Given the description of an element on the screen output the (x, y) to click on. 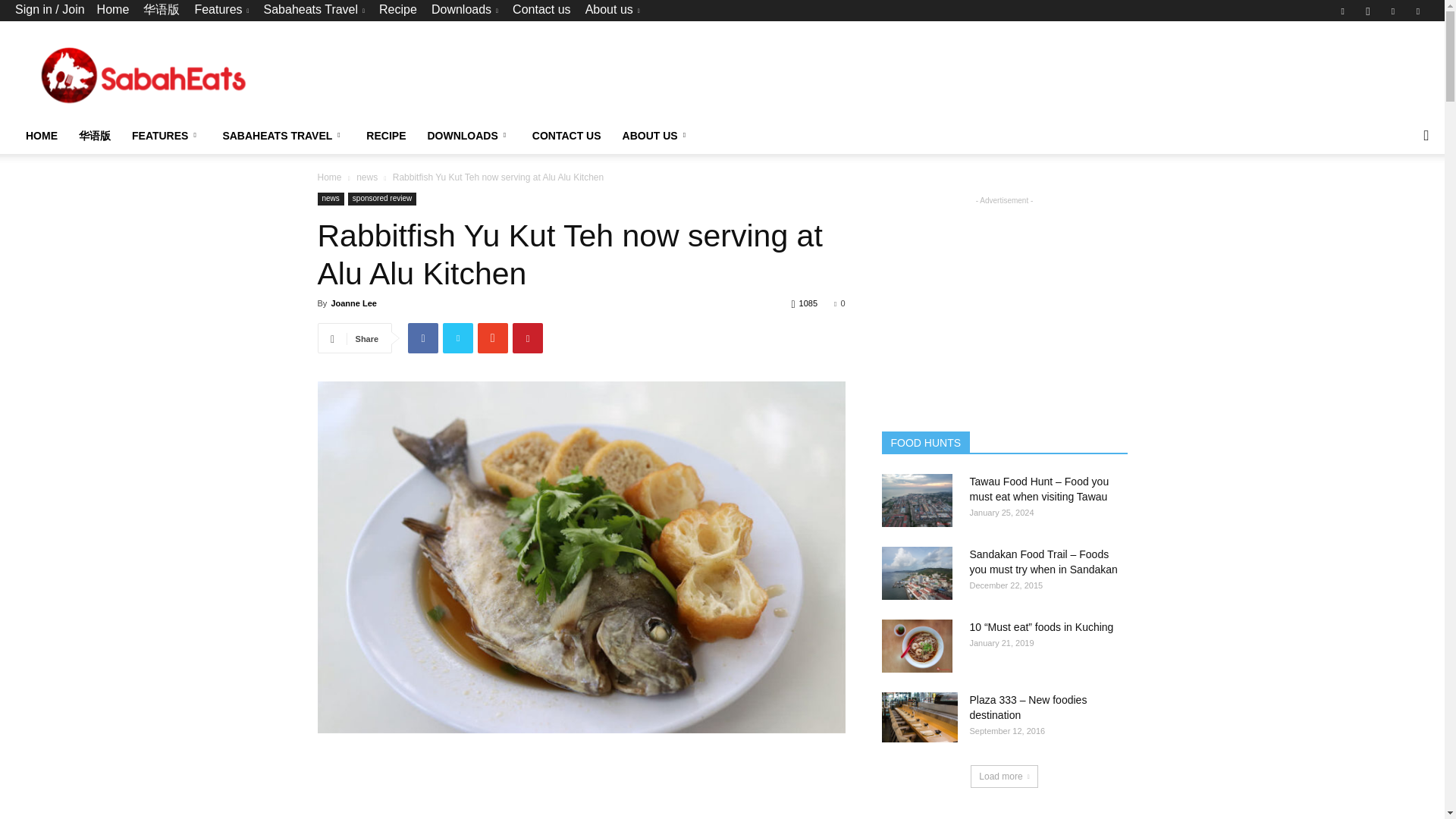
Youtube (1417, 10)
Home (113, 9)
Twitter (1393, 10)
Facebook (1343, 10)
Instagram (1367, 10)
View all posts in news (366, 176)
Advertisement (593, 785)
Advertisement (1153, 76)
